Given the description of an element on the screen output the (x, y) to click on. 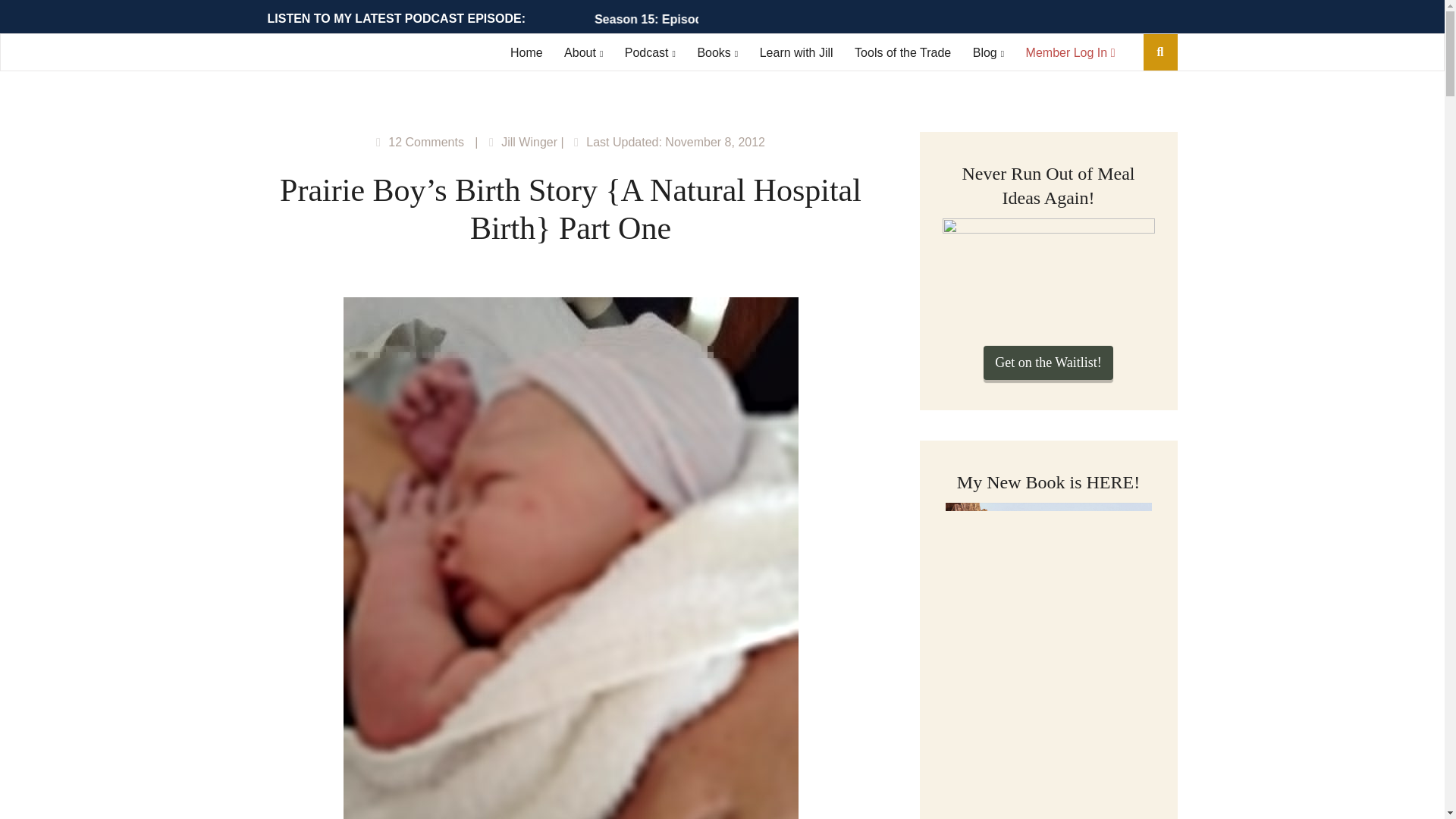
Learn with Jill (796, 52)
Books (717, 52)
Home (527, 52)
Jill Winger (528, 141)
The Prairie Homestead (347, 53)
12 Comments (426, 141)
Podcast (649, 52)
Member Log In (1070, 52)
Tools of the Trade (902, 52)
About (583, 52)
